Given the description of an element on the screen output the (x, y) to click on. 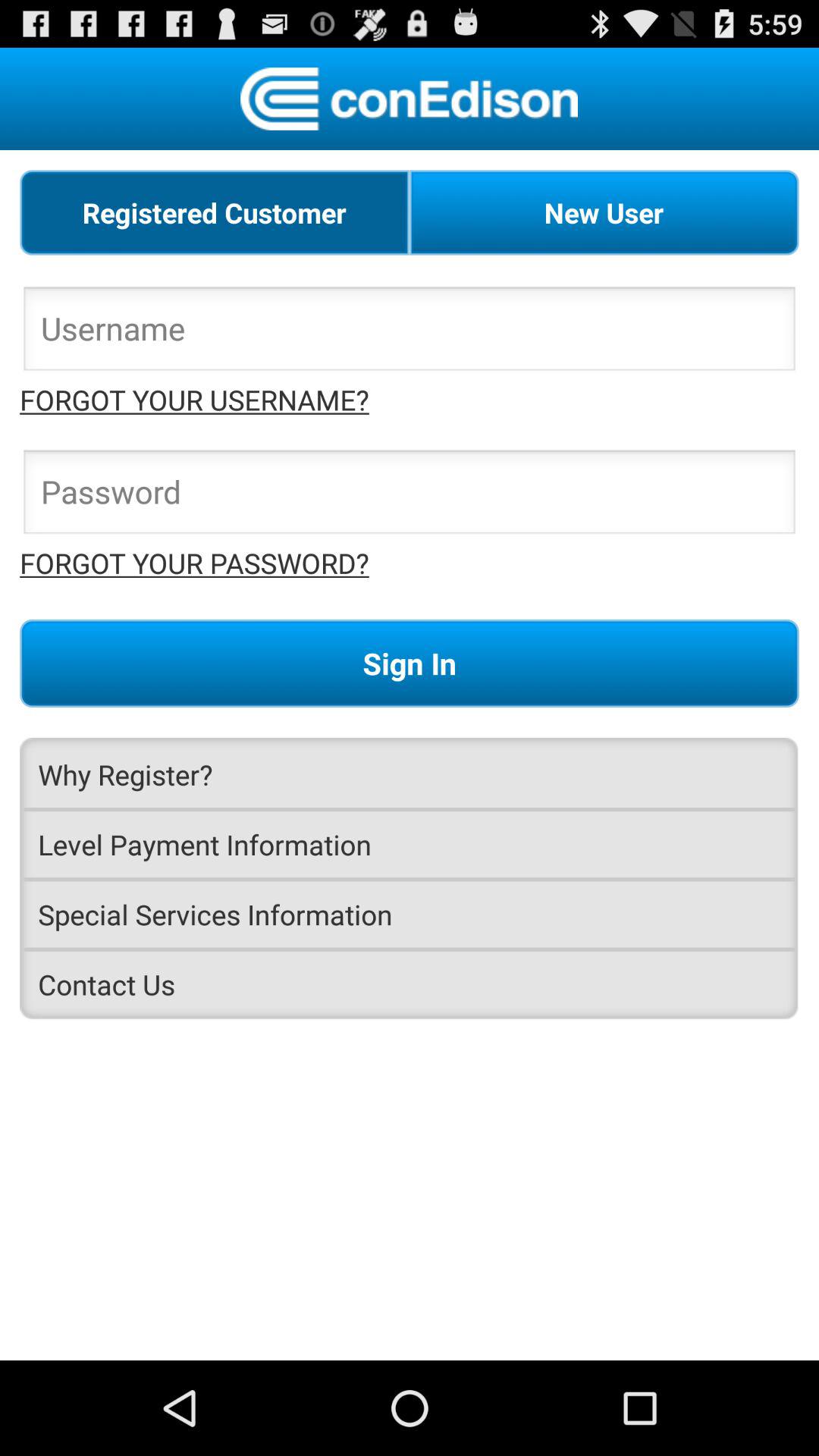
turn on app at the bottom (409, 984)
